Given the description of an element on the screen output the (x, y) to click on. 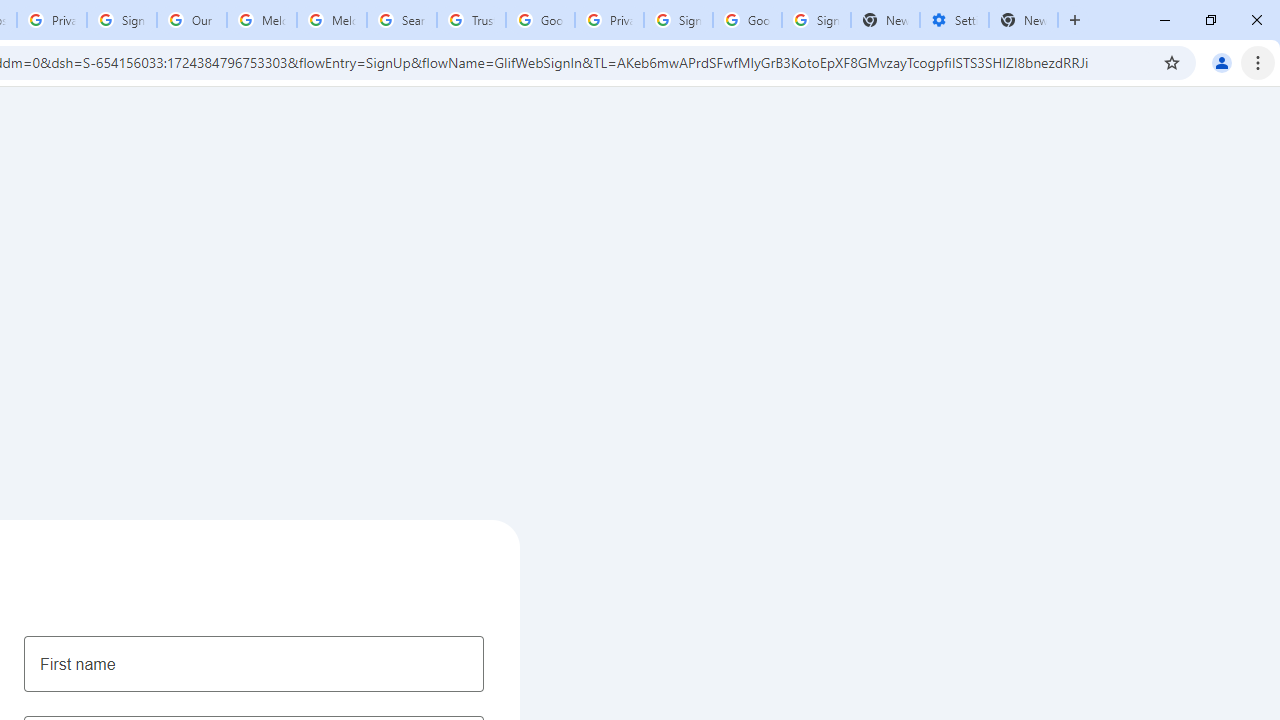
New Tab (1023, 20)
Sign in - Google Accounts (677, 20)
Settings - Addresses and more (954, 20)
Sign in - Google Accounts (122, 20)
First name (253, 663)
